Given the description of an element on the screen output the (x, y) to click on. 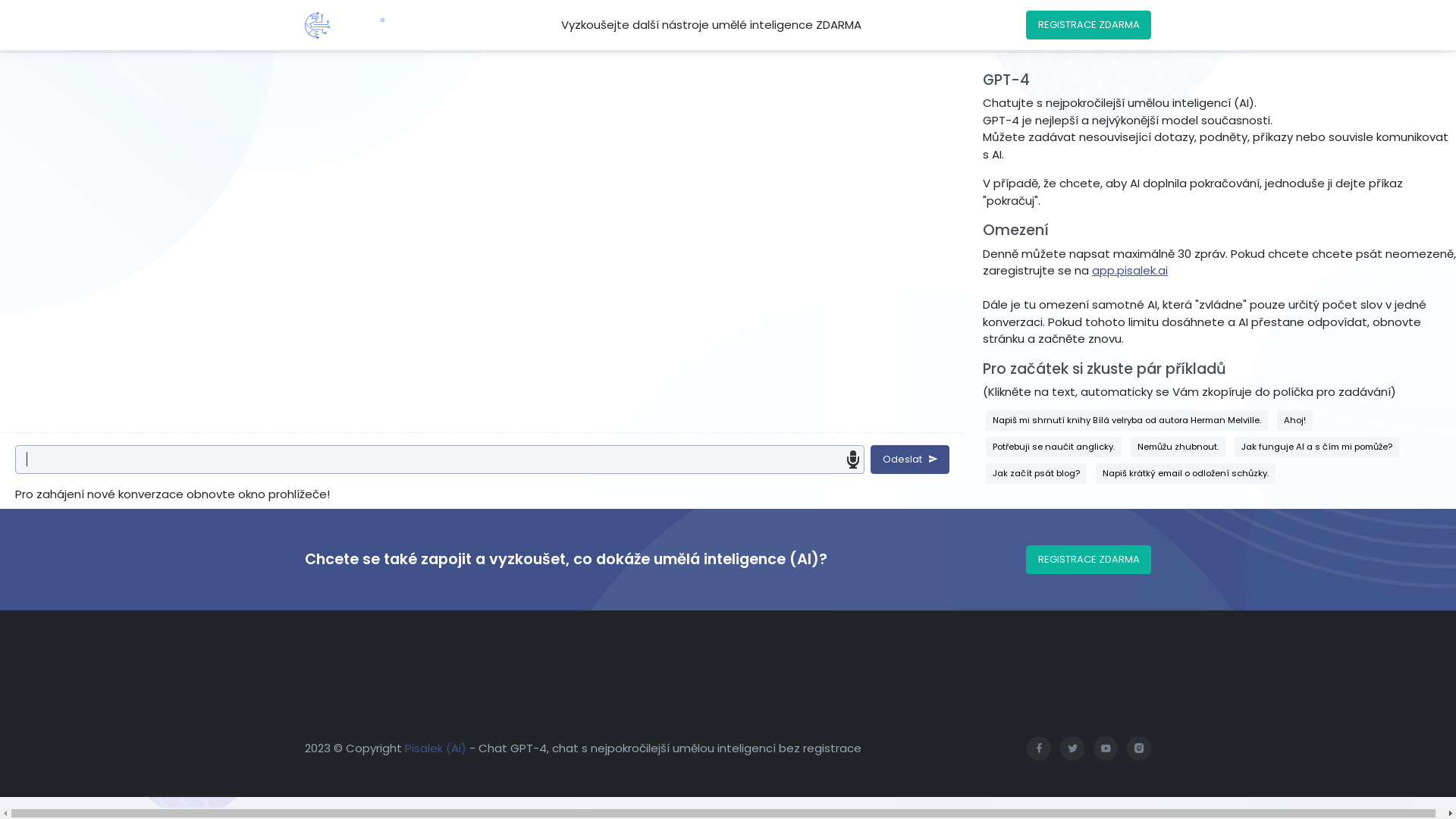
REGISTRACE ZDARMA Element type: text (1088, 24)
REGISTRACE ZDARMA Element type: text (1088, 559)
app.pisalek.ai Element type: text (1129, 270)
speech input Element type: text (852, 459)
Pisalek (Ai) Element type: text (435, 748)
Odeslat Element type: text (909, 459)
